Given the description of an element on the screen output the (x, y) to click on. 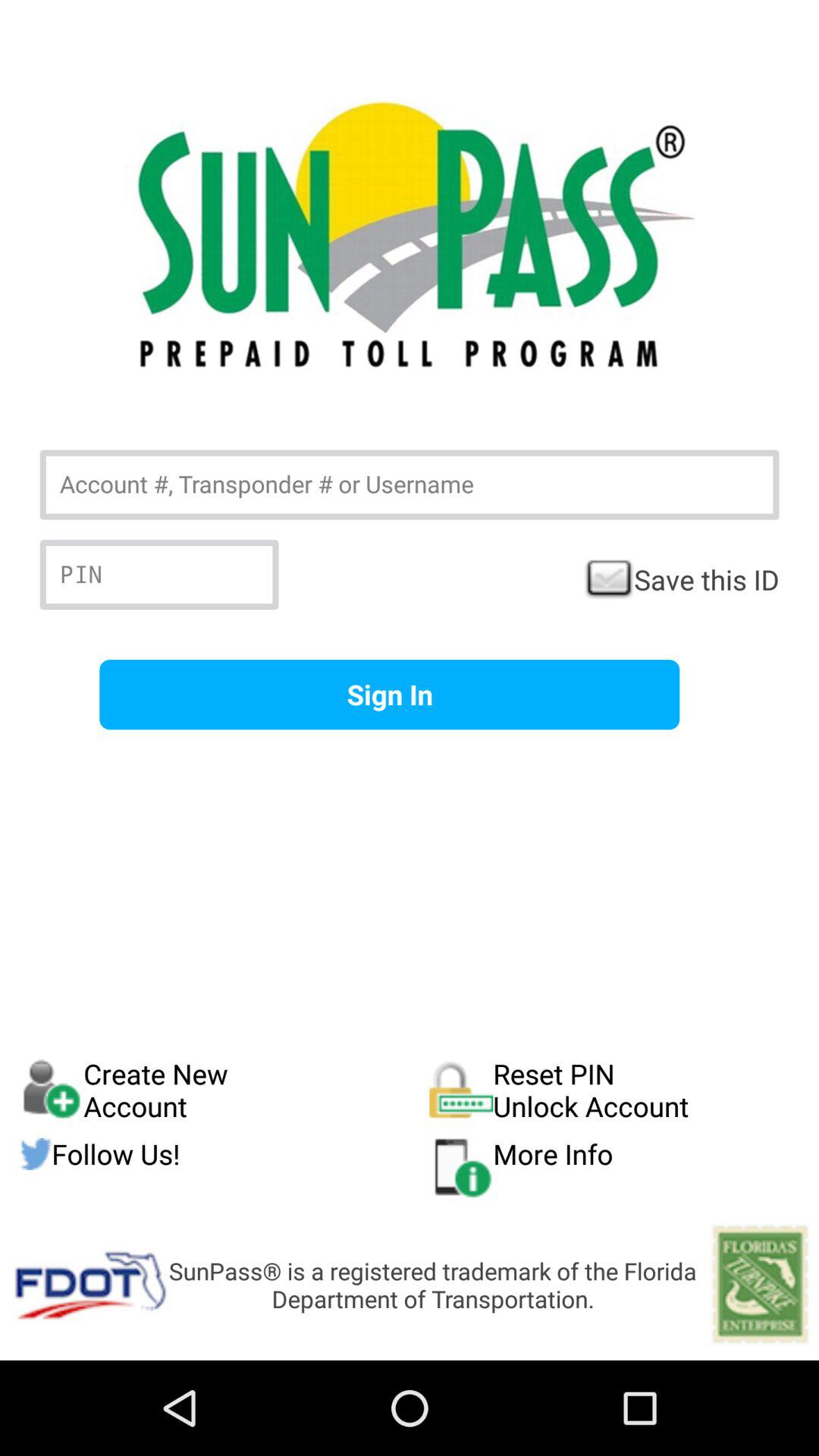
launch the icon to the left of reset pin unlock (224, 1153)
